Given the description of an element on the screen output the (x, y) to click on. 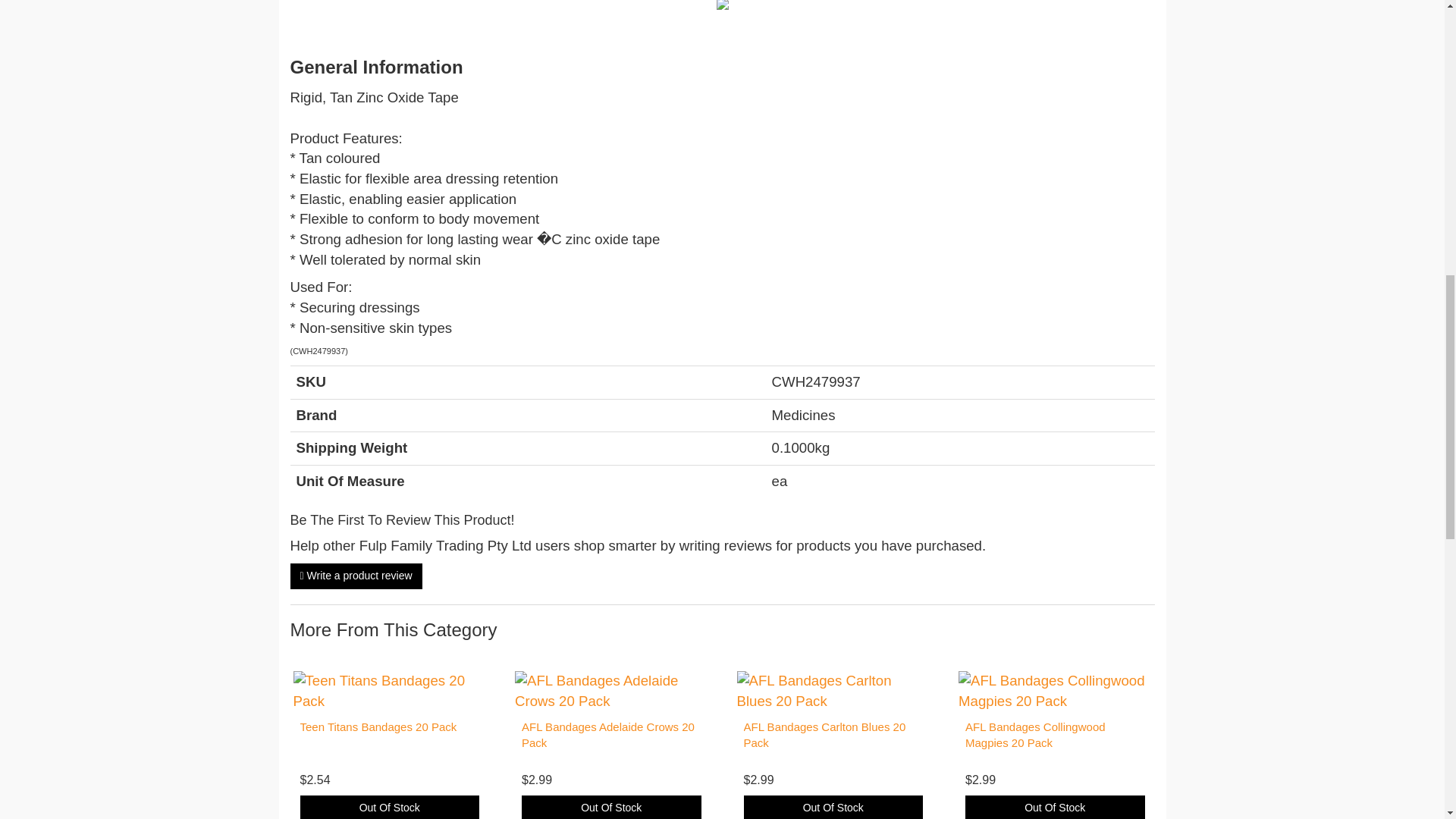
AFL Bandages Carlton Blues 20 Pack (823, 734)
Notify Me When Back In Stock (832, 807)
AFL Bandages Adelaide Crows 20 Pack (607, 734)
Notify Me When Back In Stock (1054, 807)
Notify Me When Back In Stock (611, 807)
Teen Titans Bandages 20 Pack (378, 726)
AFL Bandages Collingwood Magpies 20 Pack (1035, 734)
Notify Me When Back In Stock (389, 807)
